Given the description of an element on the screen output the (x, y) to click on. 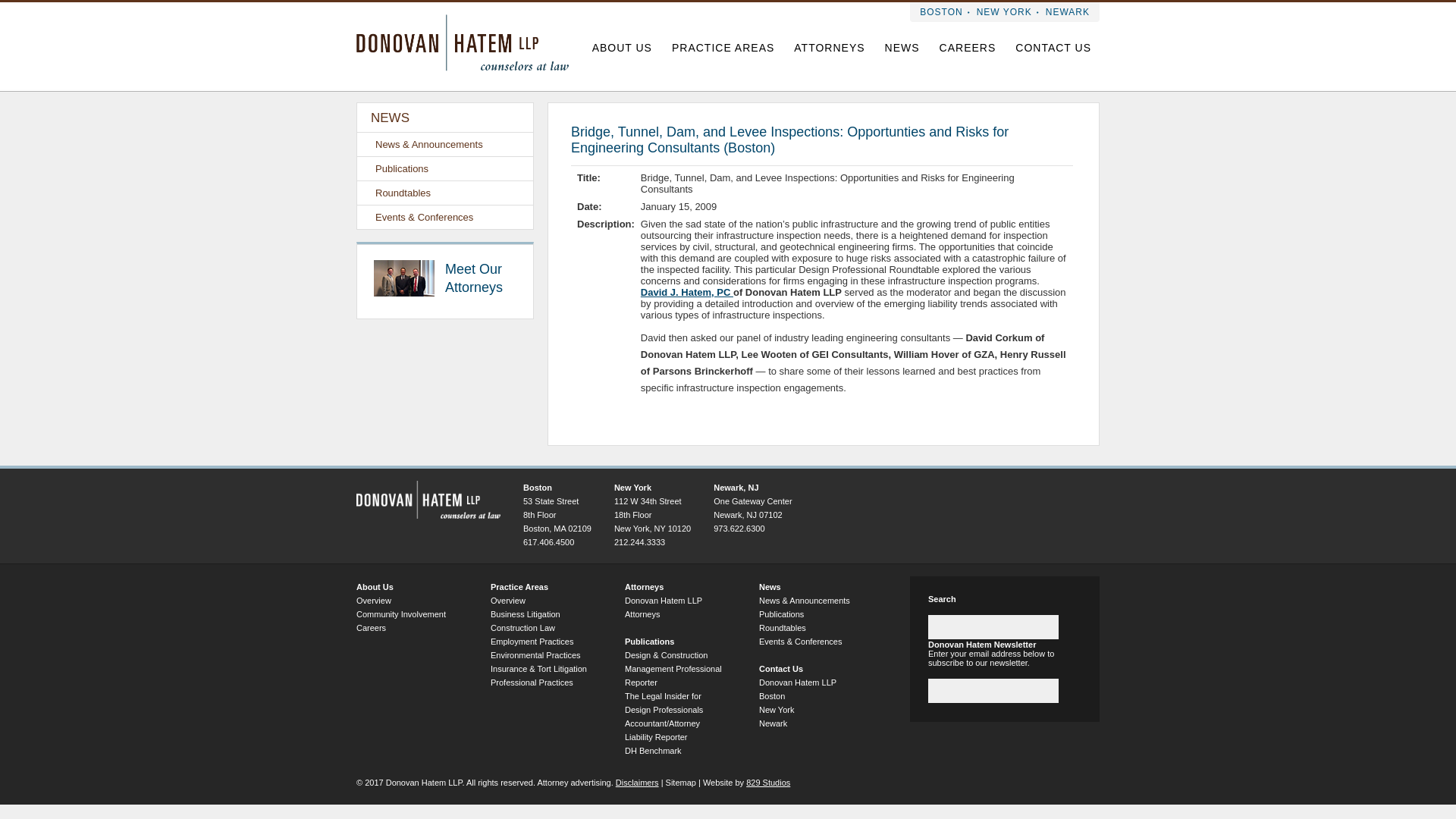
PRACTICE AREAS (721, 49)
BOSTON (940, 14)
Construction Law (522, 627)
NEWARK (1067, 14)
Meet Our Attorneys (446, 278)
Overview (373, 600)
NEW YORK (1003, 14)
NEWS (901, 49)
Publications (444, 168)
Donovan Hatem LLP Attorneys (662, 607)
David J. Hatem, PC  (686, 292)
ABOUT US (622, 49)
Community Involvement (400, 614)
Professional Practices (531, 682)
Environmental Practices (535, 655)
